Given the description of an element on the screen output the (x, y) to click on. 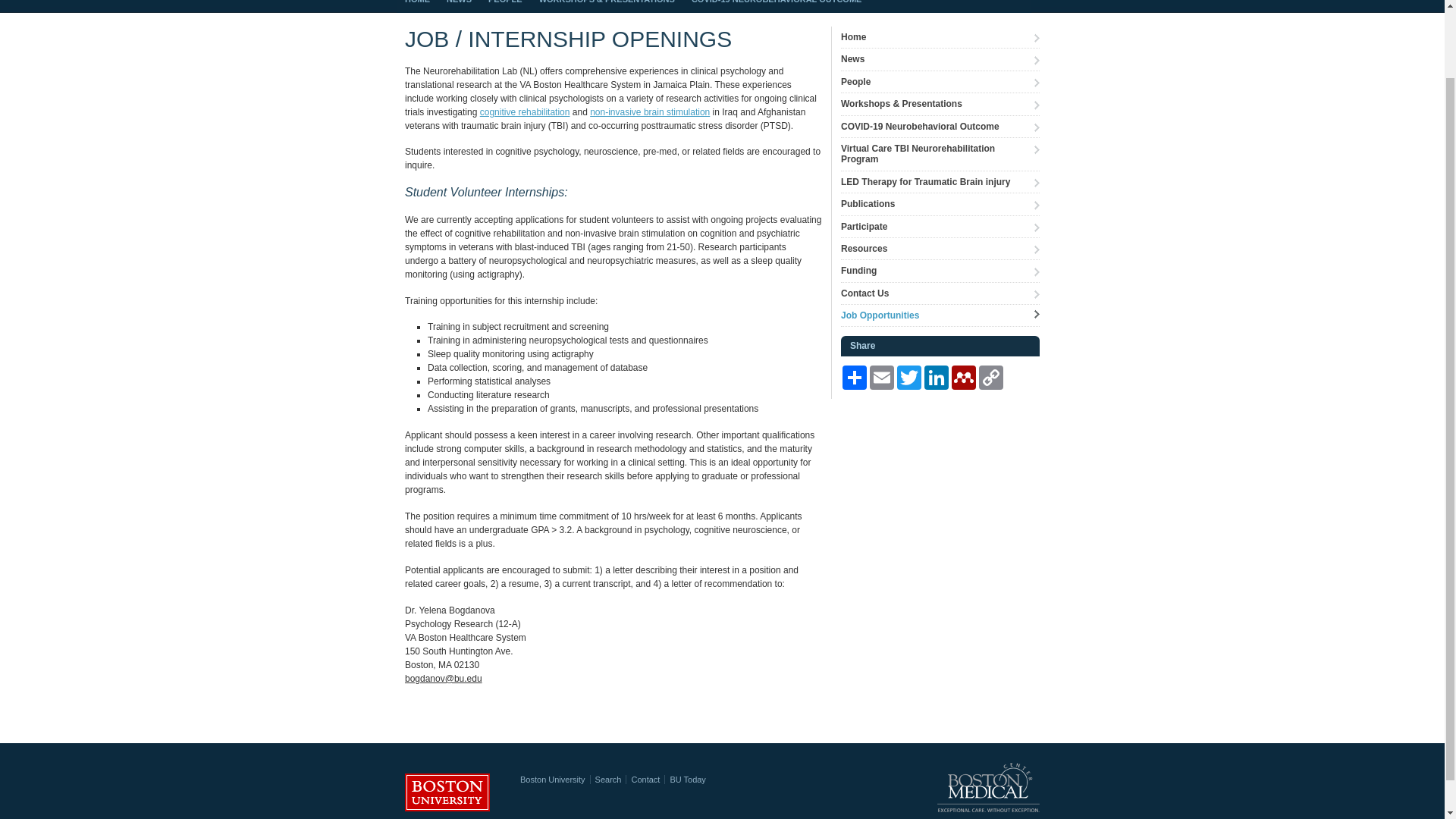
Twitter (909, 377)
HOME (417, 6)
News (940, 59)
BU Today (687, 778)
Job Opportunities (940, 315)
cognitive rehabilitation (525, 112)
Participate (940, 227)
Contact (644, 778)
COVID-19 NEUROBEHAVIORAL OUTCOME (776, 6)
People (940, 82)
NEWS (459, 6)
Copy Link (990, 377)
Search (608, 778)
Virtual Care TBI Neurorehabilitation Program (940, 154)
Email (881, 377)
